Given the description of an element on the screen output the (x, y) to click on. 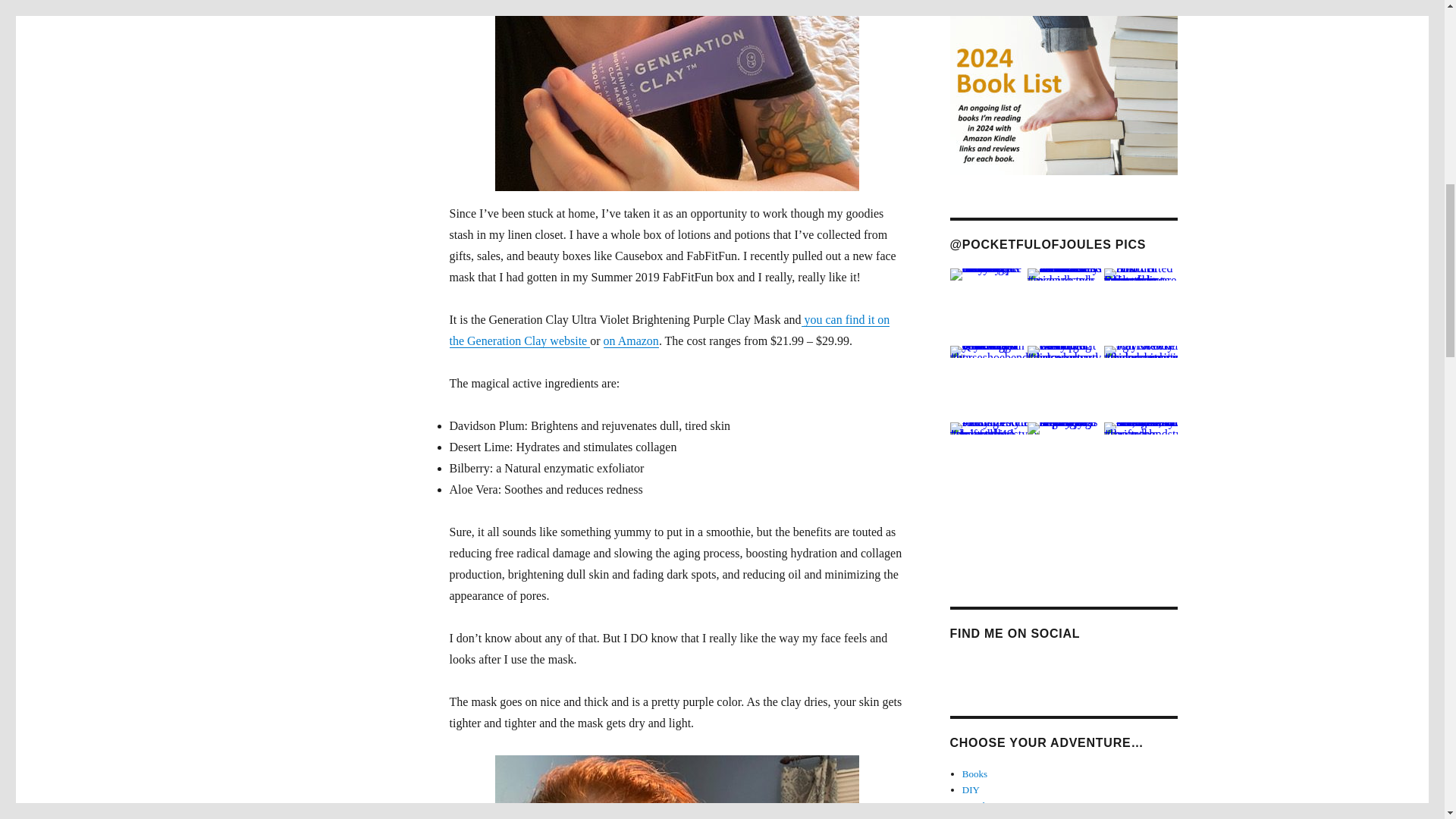
Family (976, 805)
Books (974, 773)
DIY (970, 789)
Fashion (977, 817)
on Amazon (631, 340)
you can find it on the Generation Clay website (668, 329)
